Given the description of an element on the screen output the (x, y) to click on. 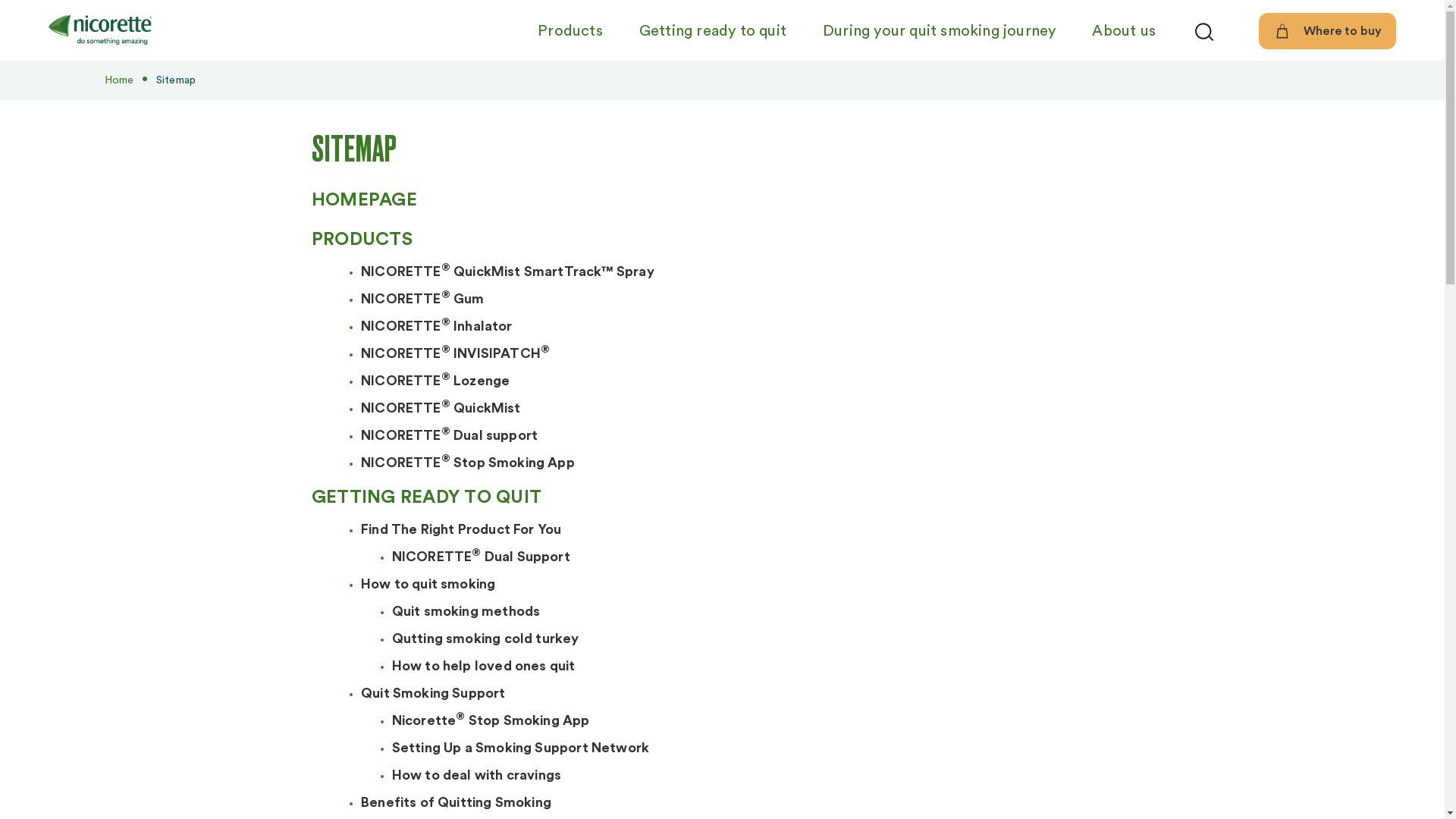
Where to buy Element type: text (1327, 30)
GETTING READY TO QUIT Element type: text (426, 498)
HOMEPAGE Element type: text (364, 201)
Home Element type: text (119, 80)
Search Element type: text (1204, 30)
Johnson & Johnson Element type: hover (99, 30)
Quit smoking methods Element type: text (466, 613)
Find The Right Product For You Element type: text (460, 532)
How to deal with cravings Element type: text (476, 777)
SITEMAP Element type: text (721, 148)
Quit Smoking Support Element type: text (432, 695)
PRODUCTS Element type: text (361, 240)
How to quit smoking Element type: text (427, 586)
Qutting smoking cold turkey Element type: text (485, 641)
Skip to main content Element type: text (51, 0)
How to help loved ones quit Element type: text (483, 668)
Setting Up a Smoking Support Network Element type: text (520, 750)
